Given the description of an element on the screen output the (x, y) to click on. 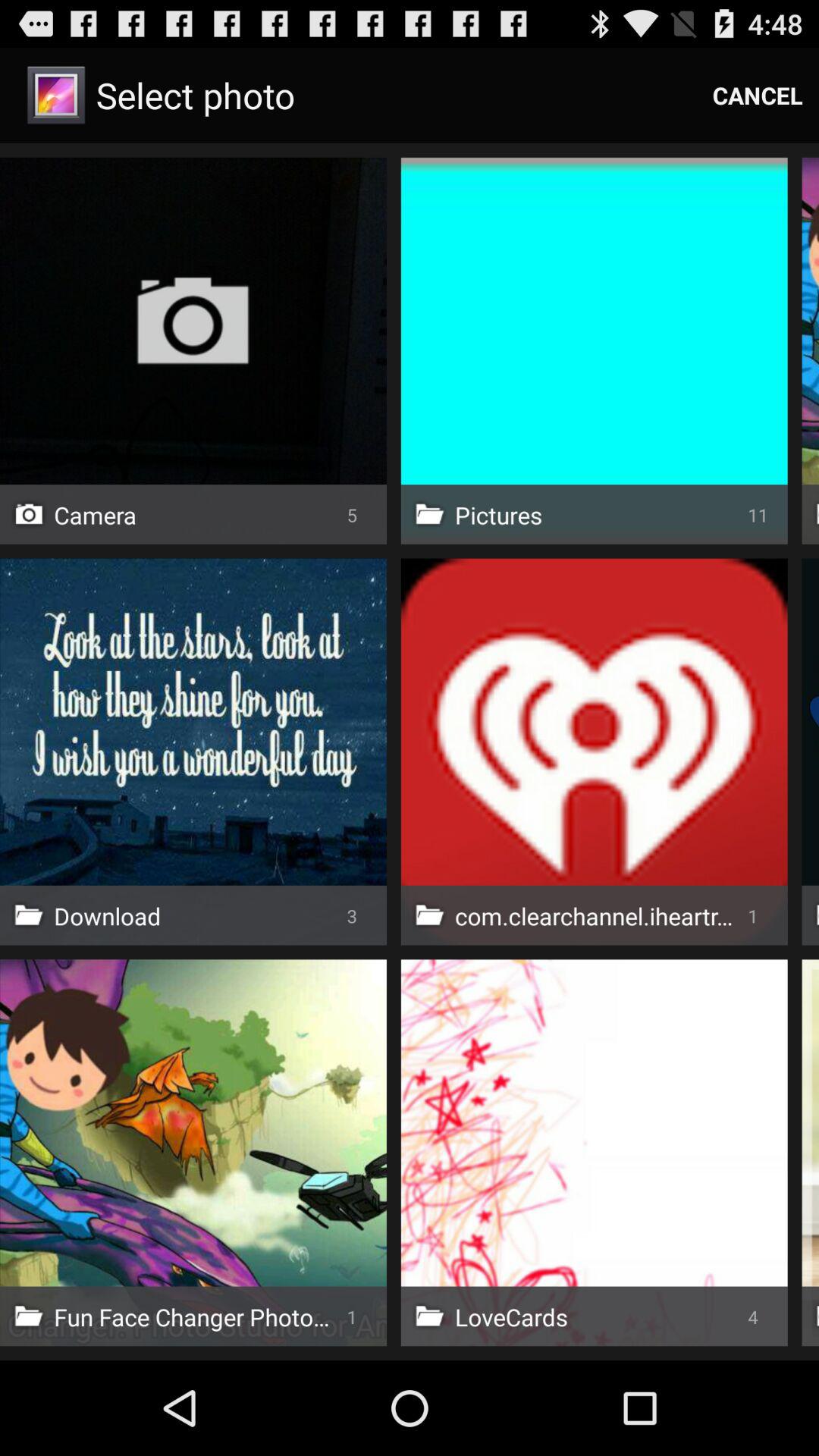
open the cancel (757, 95)
